Given the description of an element on the screen output the (x, y) to click on. 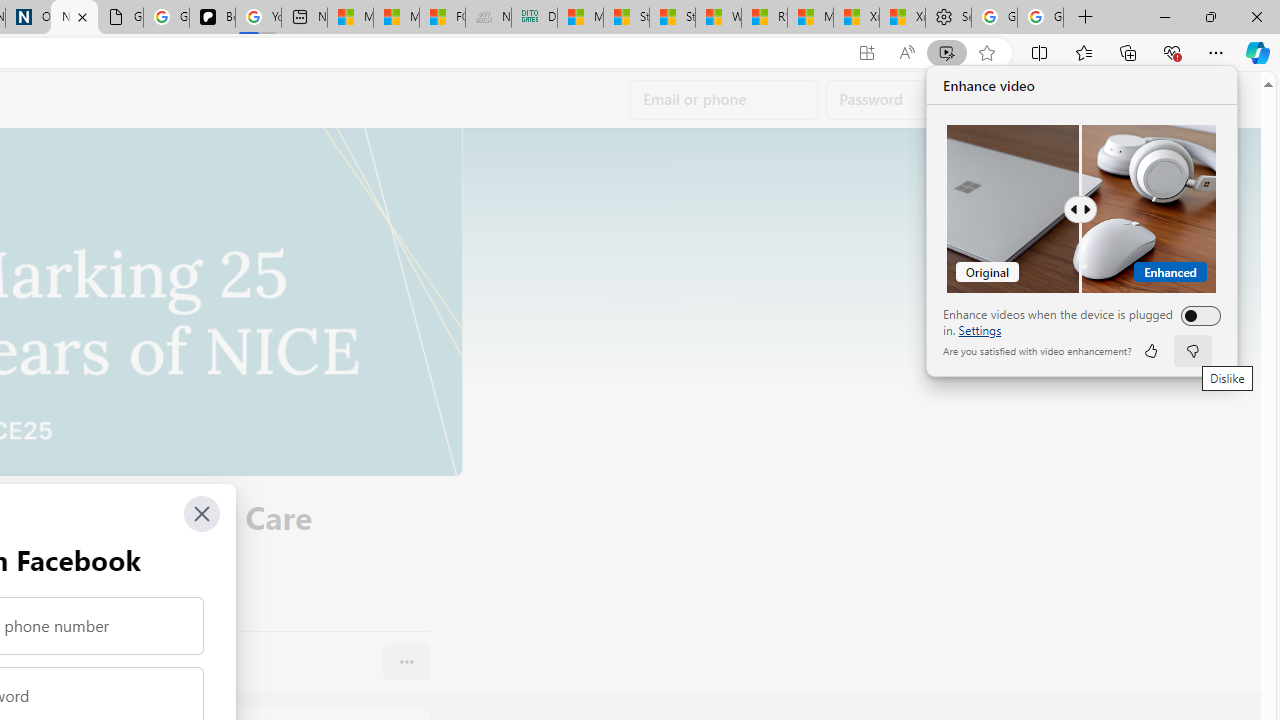
FOX News - MSN (441, 17)
Comparision (1081, 209)
R******* | Trusted Community Engagement and Contributions (764, 17)
App available. Install Facebook (867, 53)
